Given the description of an element on the screen output the (x, y) to click on. 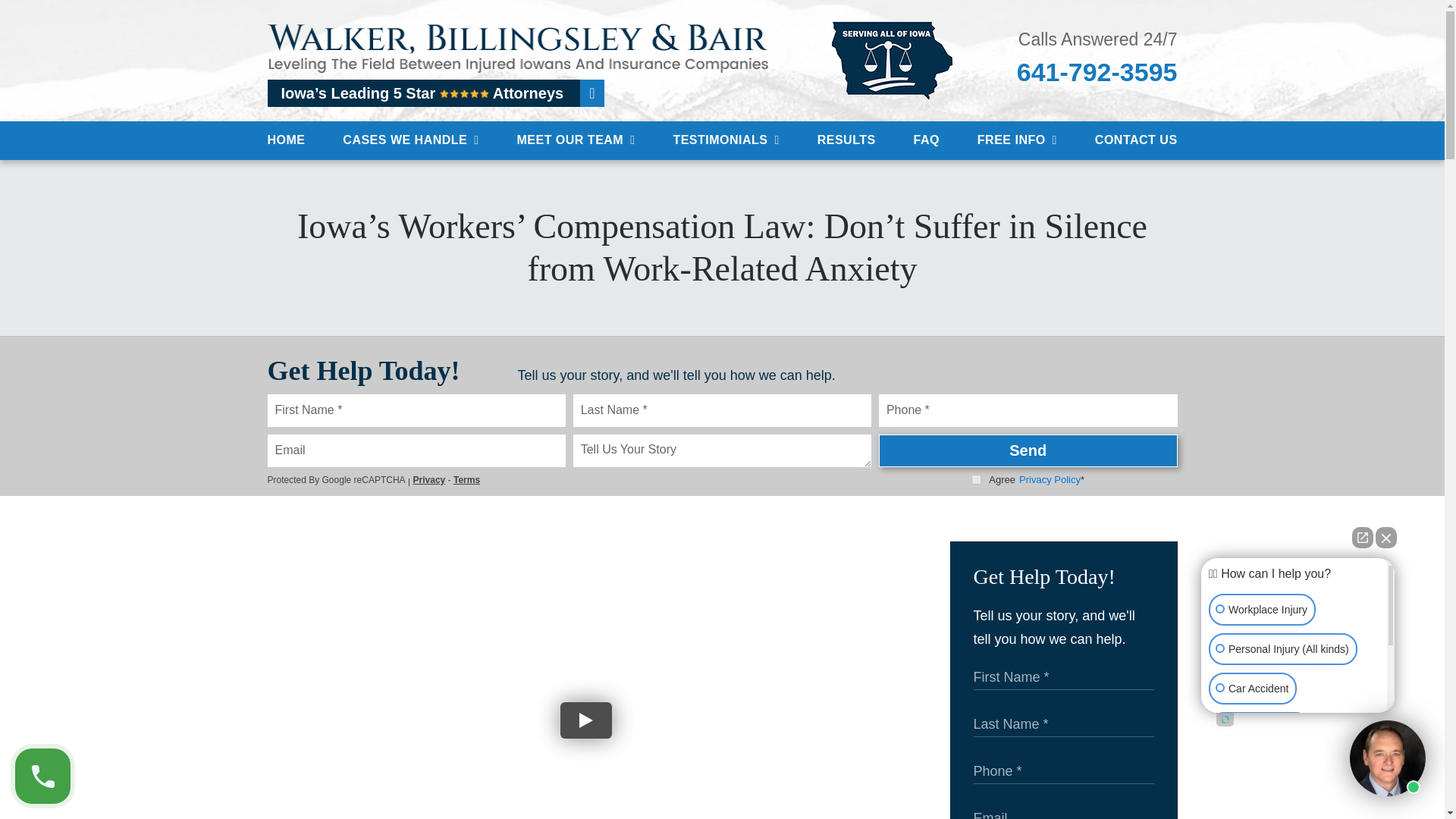
CASES WE HANDLE (410, 140)
FREE INFO (1016, 140)
1 (976, 479)
TESTIMONIALS (725, 140)
FAQ (926, 140)
HOME (286, 140)
MEET OUR TEAM (575, 140)
RESULTS (846, 140)
